Given the description of an element on the screen output the (x, y) to click on. 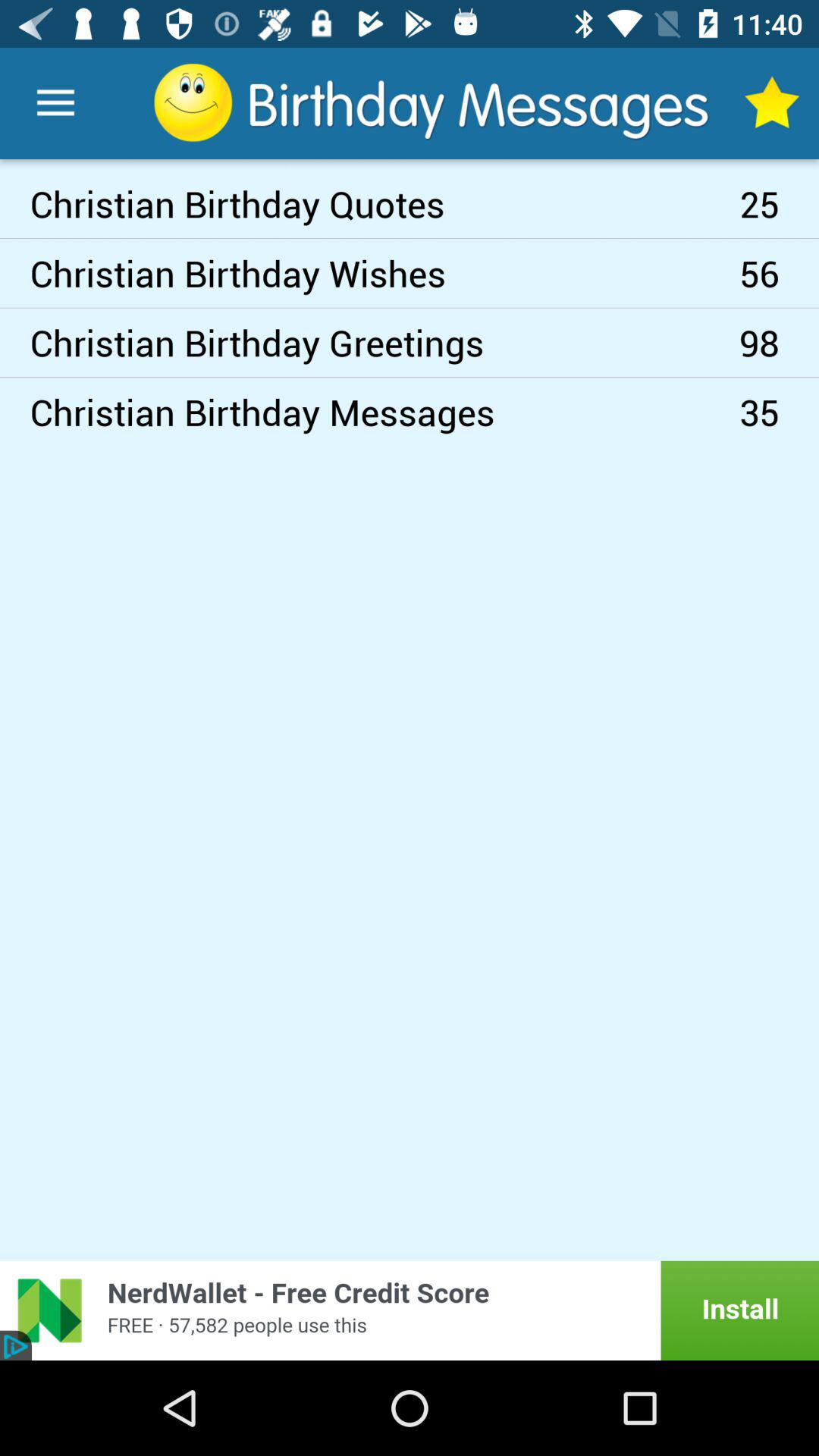
see the advertisement (409, 1310)
